Given the description of an element on the screen output the (x, y) to click on. 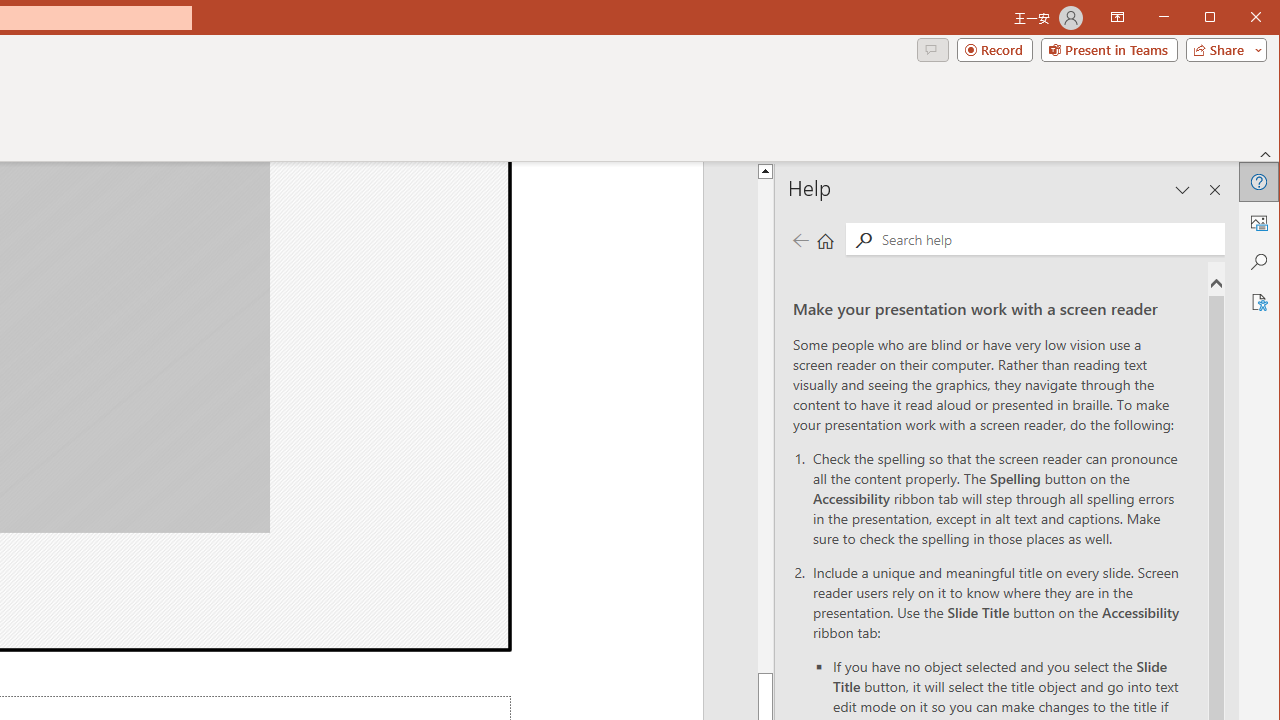
Previous page (800, 240)
